Given the description of an element on the screen output the (x, y) to click on. 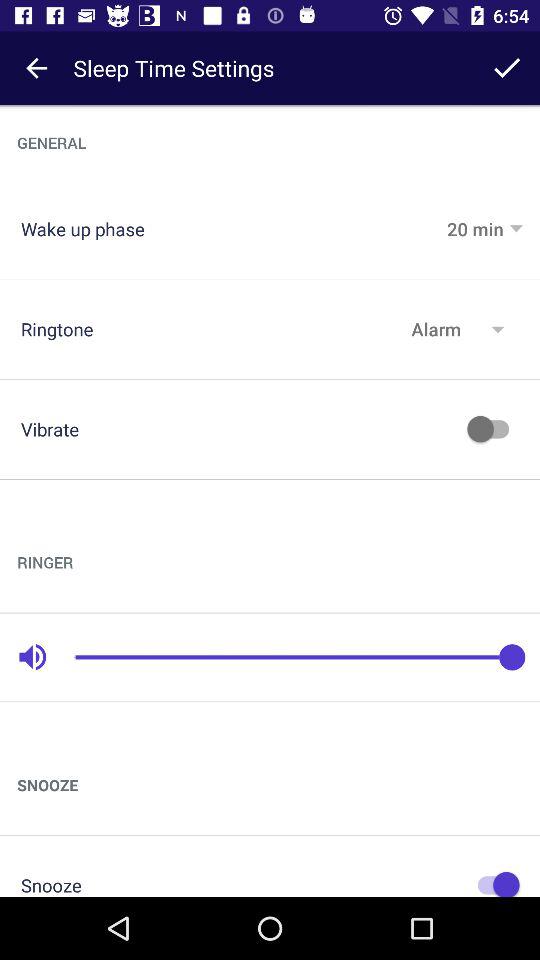
go back button (36, 68)
